Given the description of an element on the screen output the (x, y) to click on. 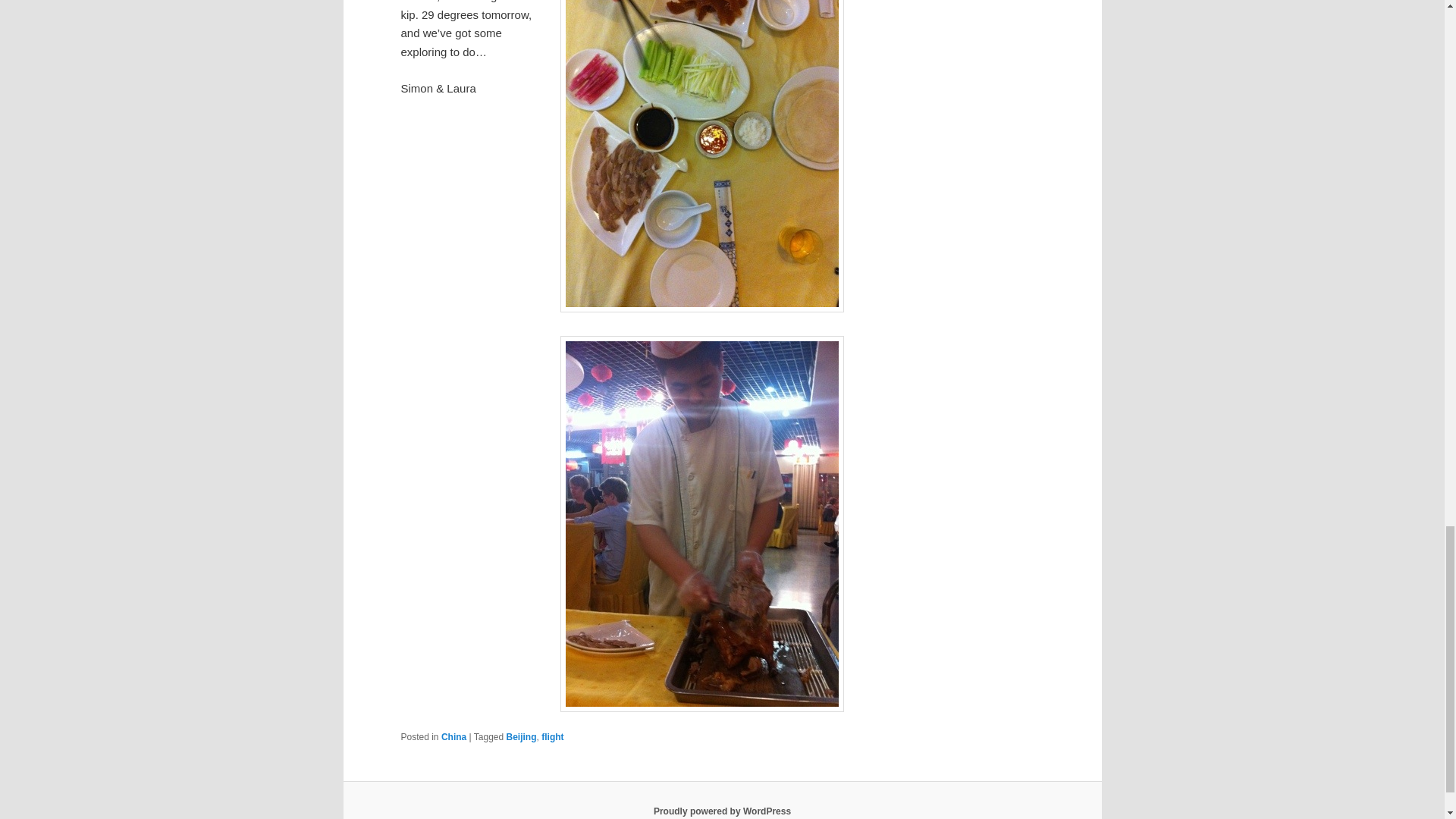
China (453, 737)
flight (552, 737)
Beijing (521, 737)
Semantic Personal Publishing Platform (721, 810)
